Given the description of an element on the screen output the (x, y) to click on. 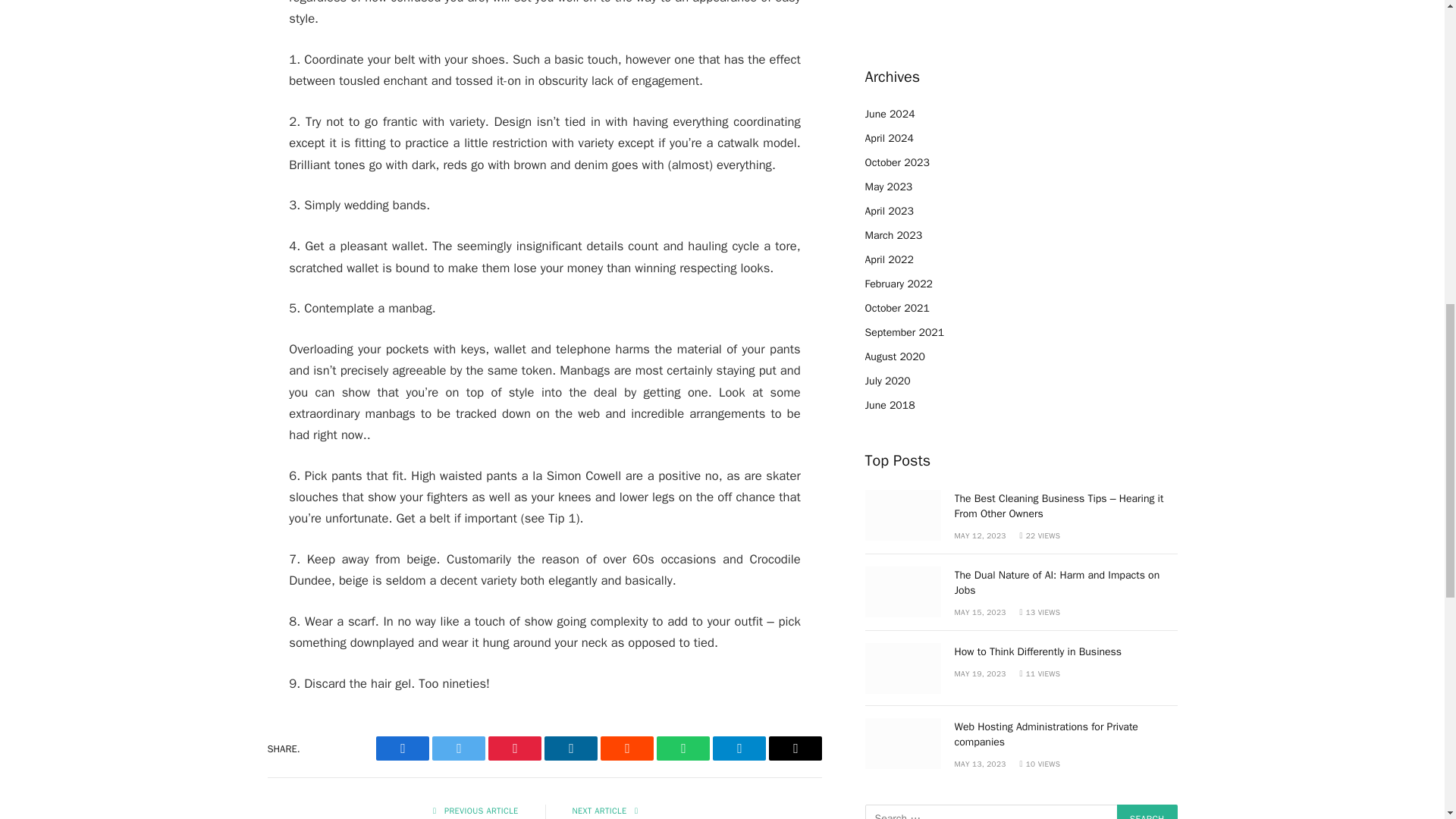
Search (1146, 811)
Search (1146, 811)
